Given the description of an element on the screen output the (x, y) to click on. 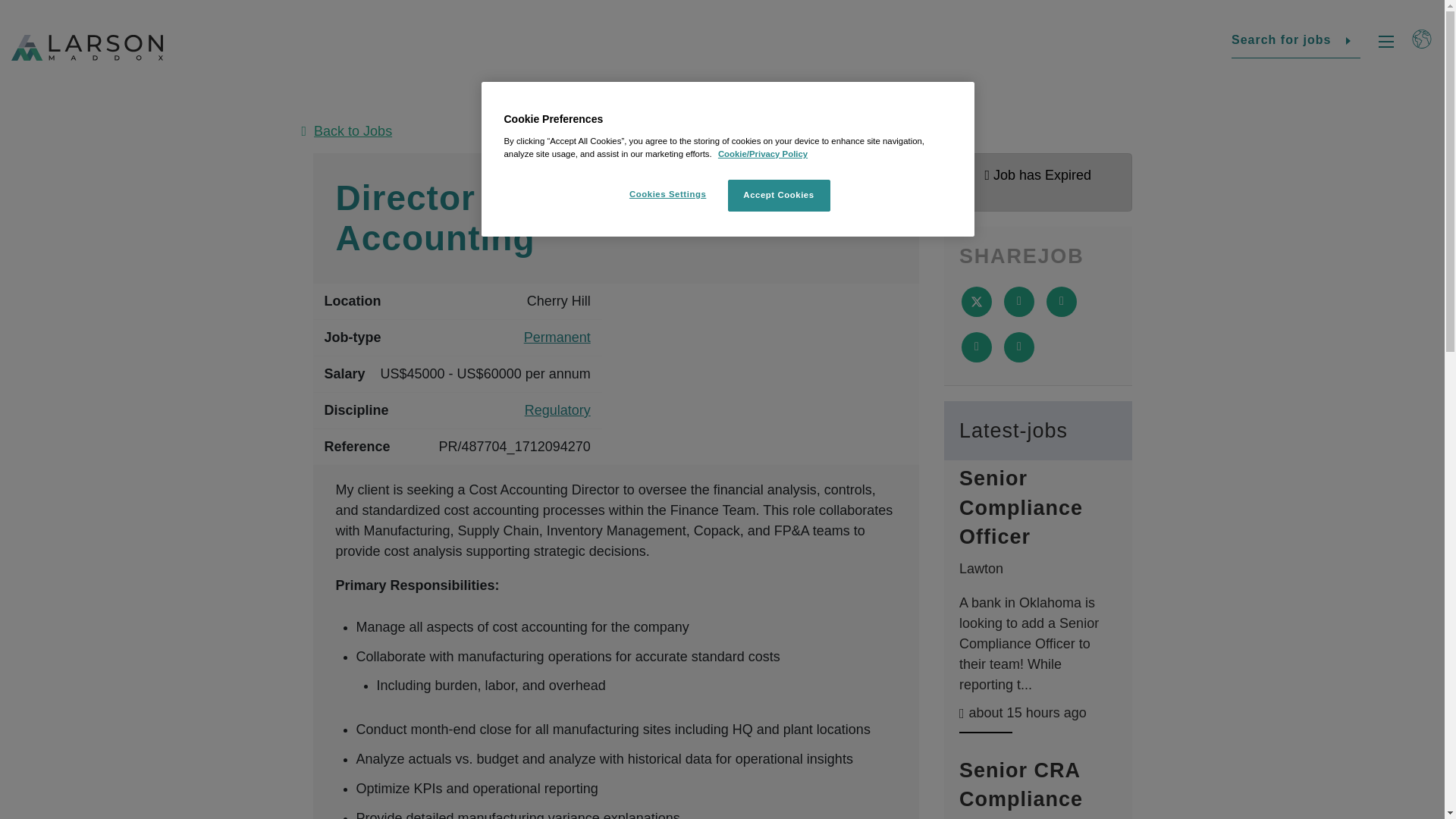
Regulatory (557, 410)
Facebook (1018, 301)
Go to the Homepage (79, 577)
Facebook (1222, 715)
Larson Maddox (79, 577)
Larson Maddox (87, 47)
Who we are (536, 564)
LinkedIn (1061, 301)
Go to the Homepage (87, 47)
Email (975, 347)
WeChat (1393, 715)
Permanent (557, 337)
Back to Jobs (721, 131)
Search for jobs (1295, 41)
Twitter (1291, 715)
